Given the description of an element on the screen output the (x, y) to click on. 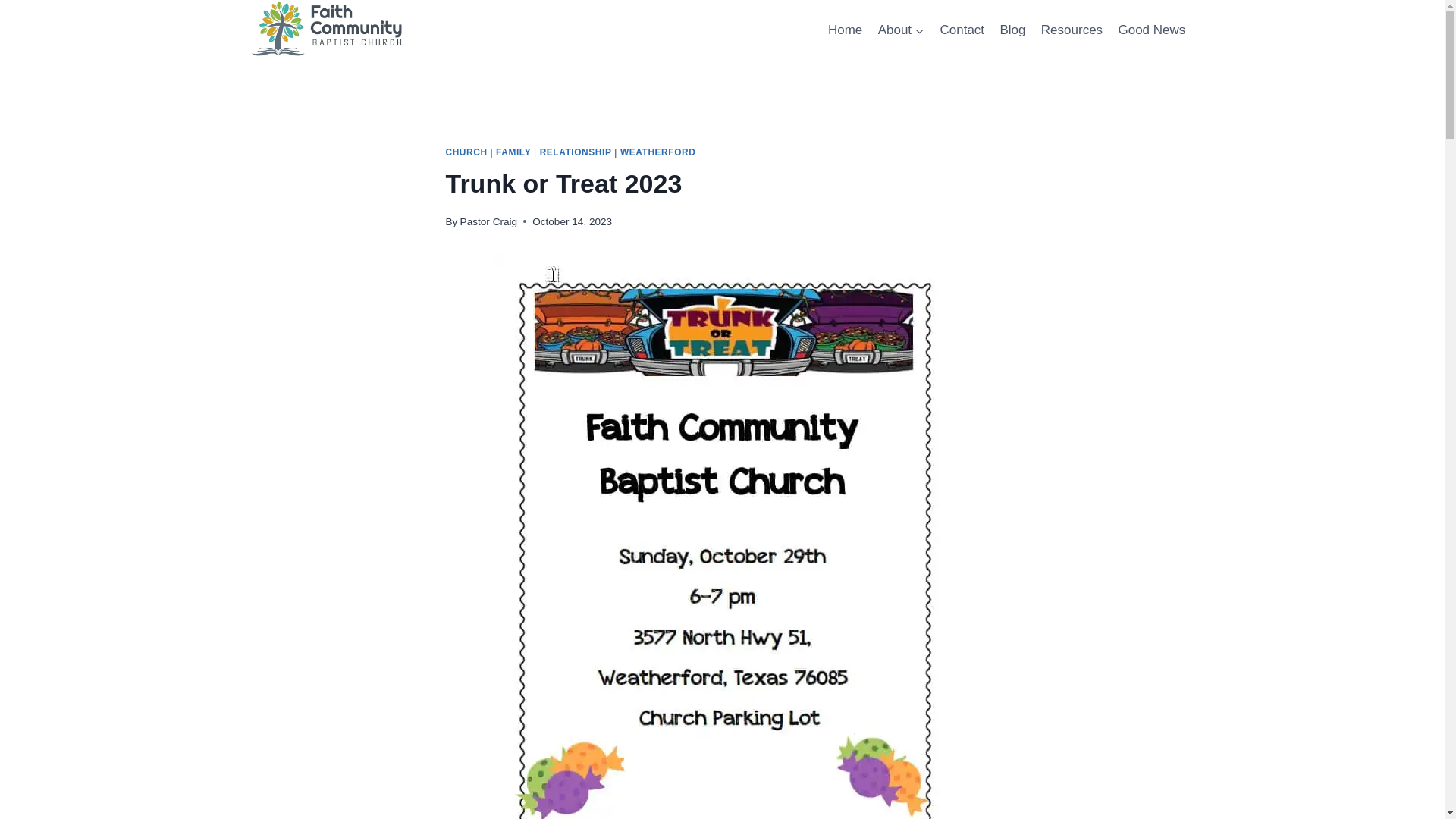
Blog (1011, 30)
CHURCH (466, 152)
Pastor Craig (489, 221)
WEATHERFORD (657, 152)
RELATIONSHIP (575, 152)
Resources (1071, 30)
FAMILY (513, 152)
About (900, 30)
Home (845, 30)
Good News (1150, 30)
Contact (961, 30)
